Given the description of an element on the screen output the (x, y) to click on. 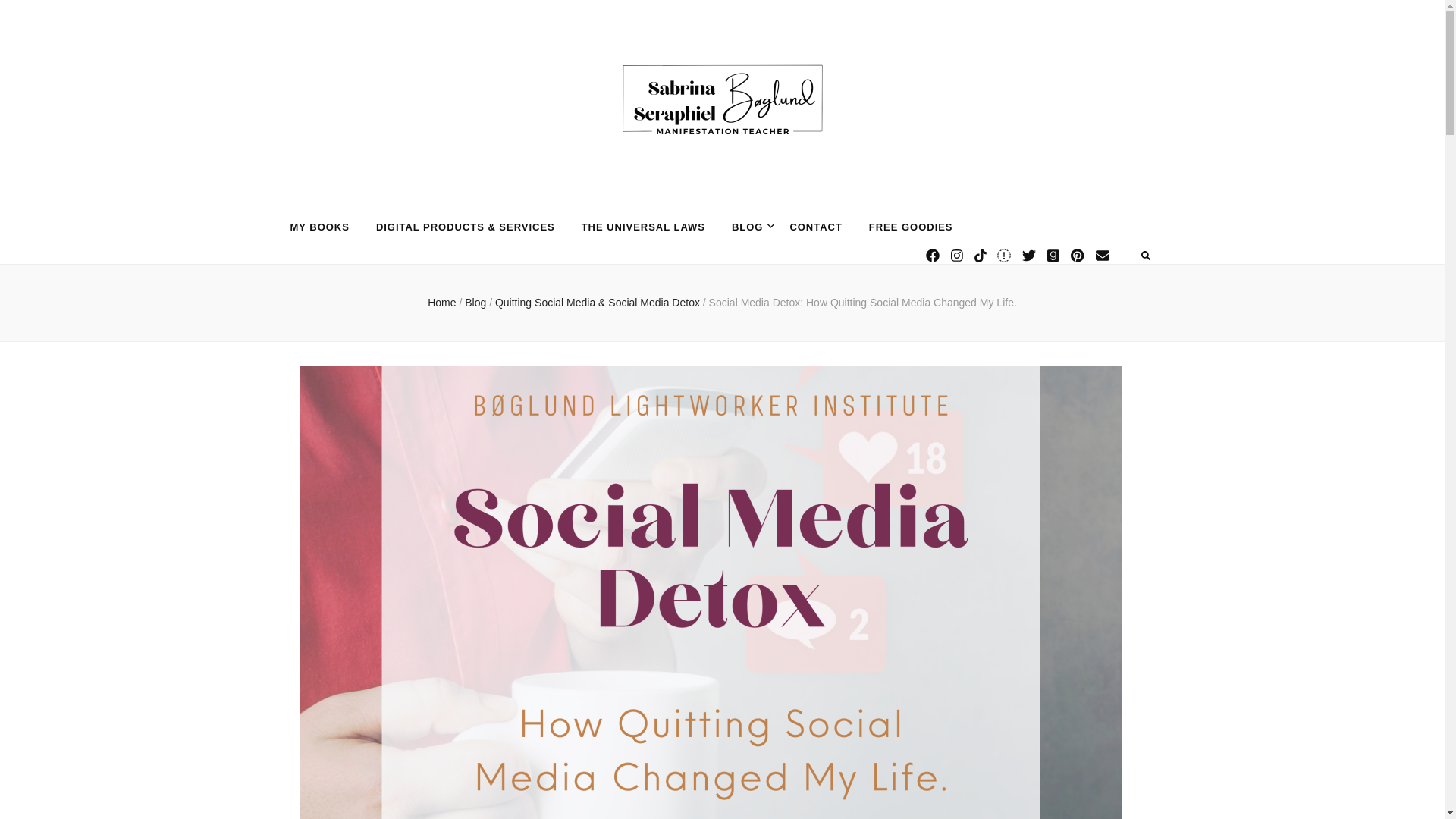
FREE GOODIES (911, 227)
Blog (476, 302)
BLOG (747, 227)
MY BOOKS (319, 227)
CONTACT (815, 227)
THE UNIVERSAL LAWS (642, 227)
Home (441, 302)
